Given the description of an element on the screen output the (x, y) to click on. 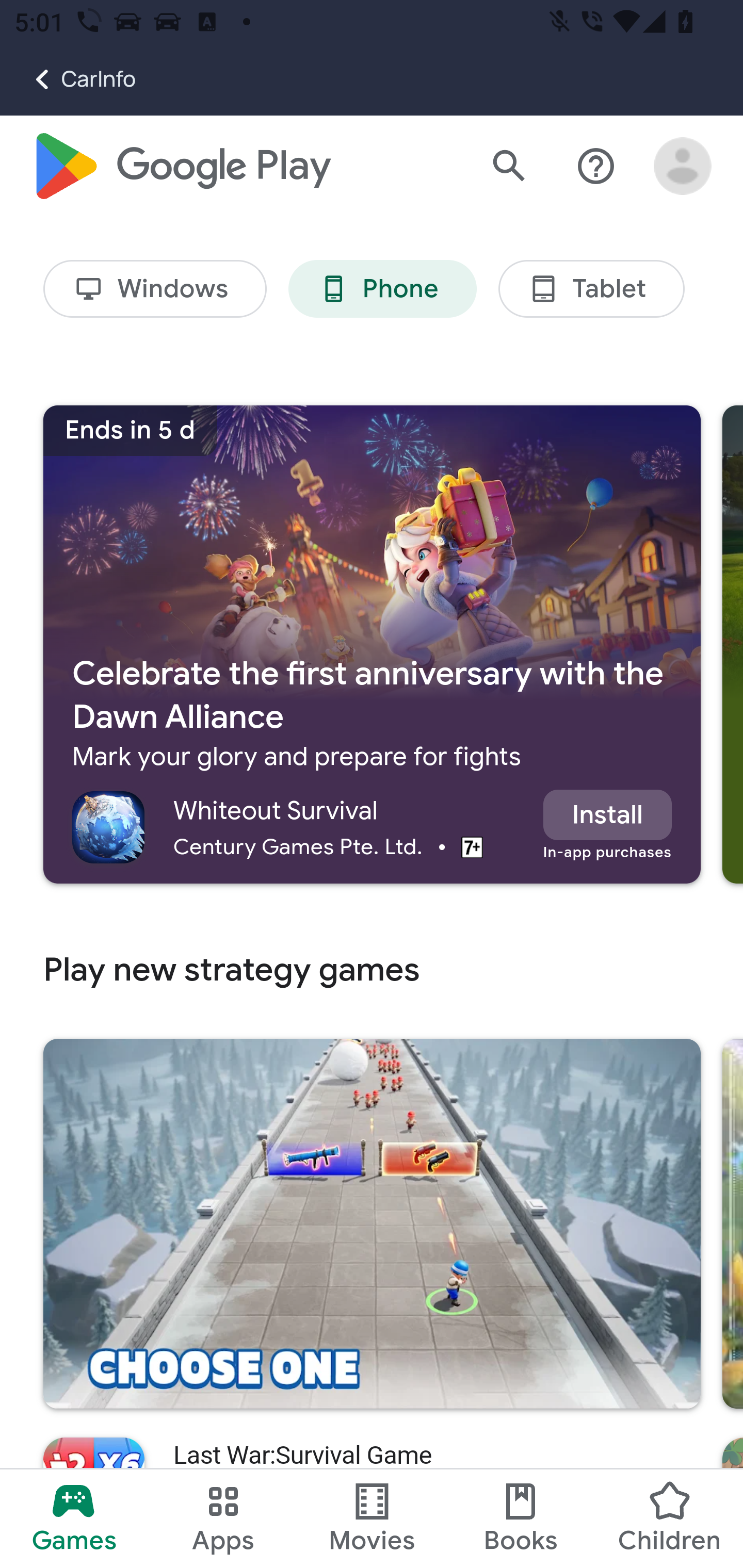
CarInfo (67, 79)
Google Play logo (180, 166)
Search (508, 166)
Help centre (596, 166)
Open account menu (682, 166)
Windows (155, 289)
Phone (381, 289)
Tablet (591, 289)
Install (607, 815)
Games (74, 1518)
Apps (222, 1518)
Movies (372, 1518)
Books (520, 1518)
Children (668, 1518)
